Given the description of an element on the screen output the (x, y) to click on. 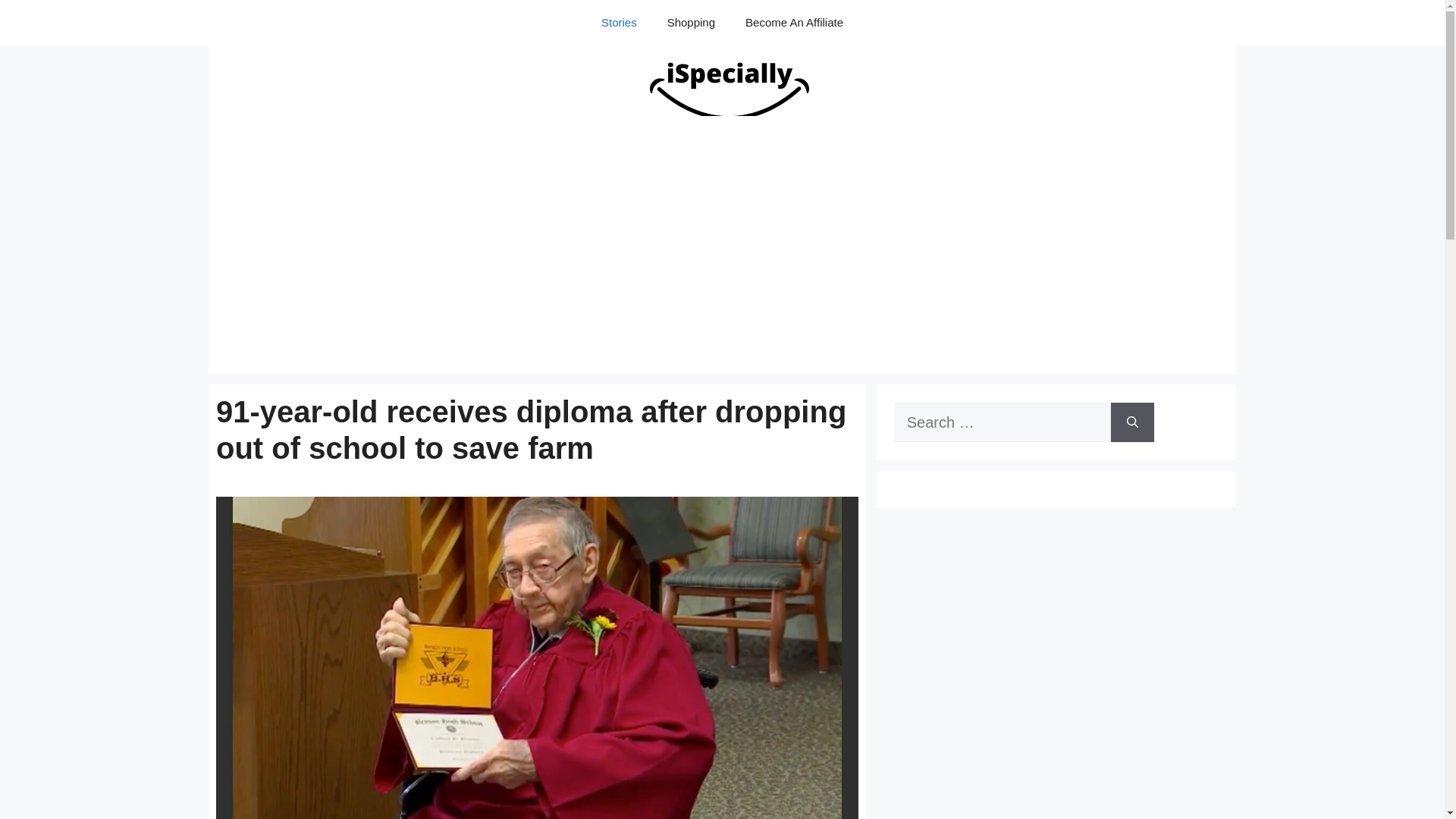
Shopping (691, 22)
Stories (619, 22)
Search for: (1002, 422)
Become An Affiliate (794, 22)
